Given the description of an element on the screen output the (x, y) to click on. 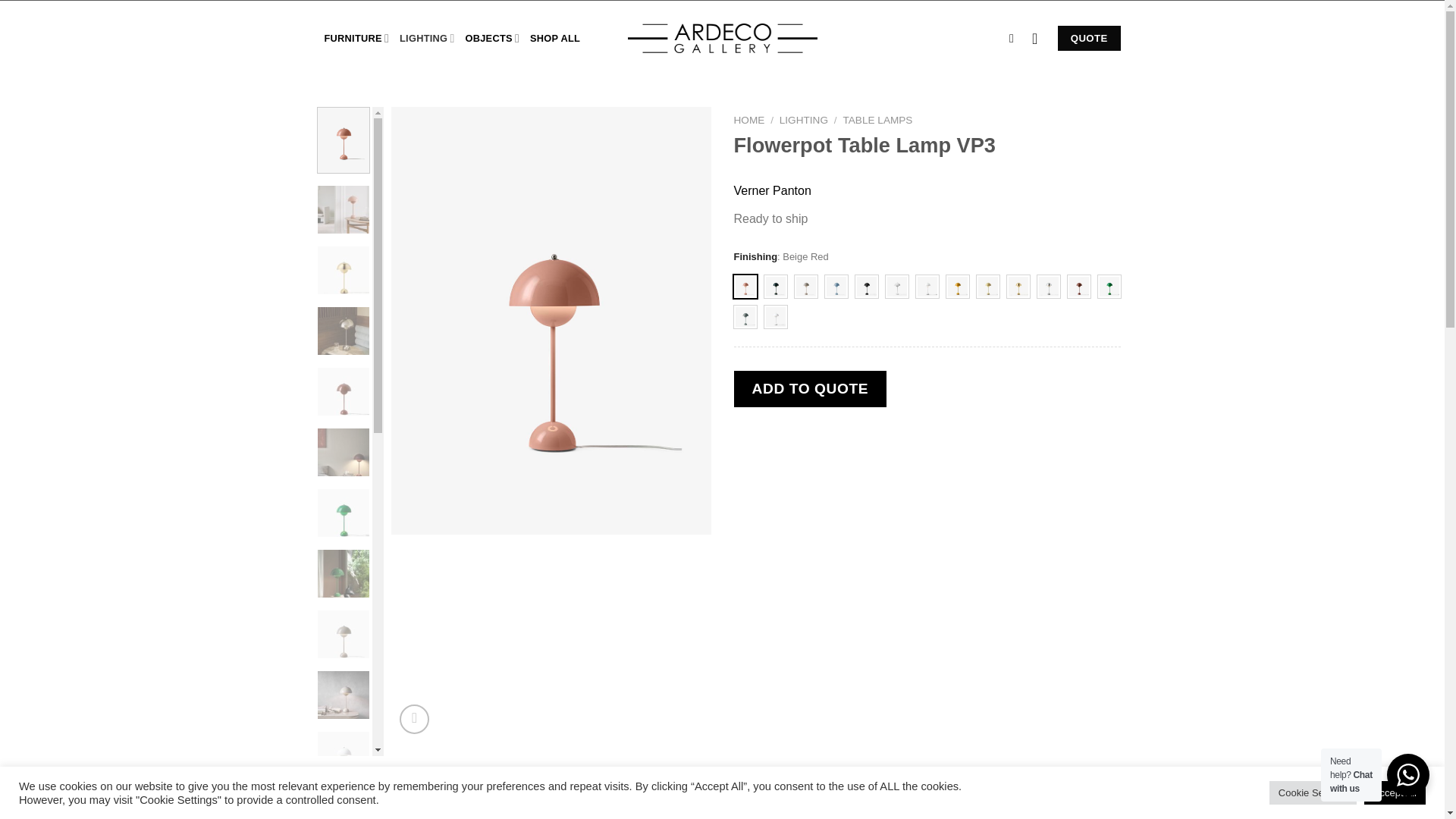
Ardeco Gallery (721, 38)
FURNITURE (357, 38)
SHOP ALL (554, 38)
View brand (771, 190)
LIGHTING (426, 38)
QUOTE (1089, 38)
Zoom (413, 718)
OBJECTS (492, 38)
